Given the description of an element on the screen output the (x, y) to click on. 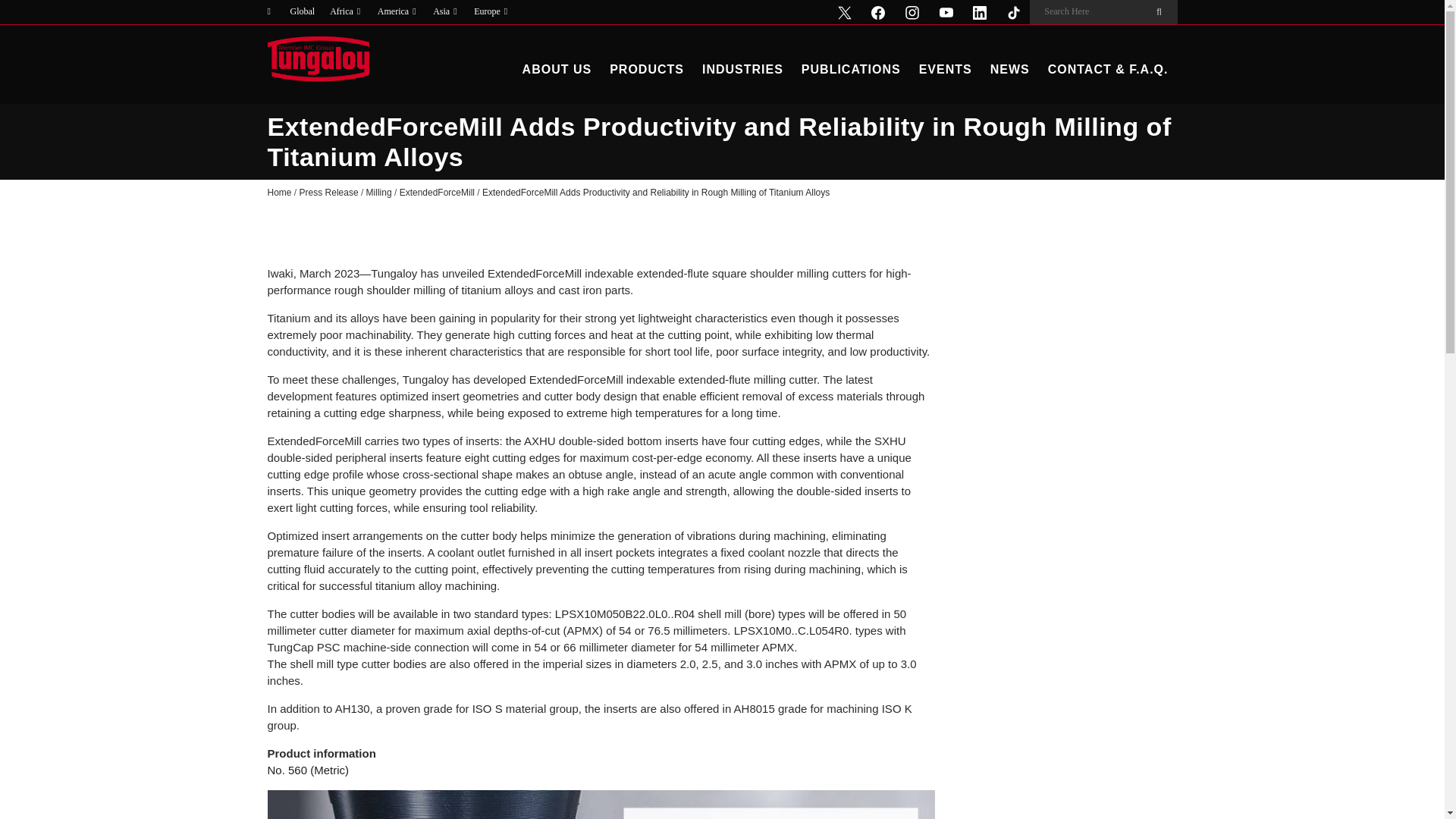
Instagram (911, 12)
America (397, 12)
TikTok (1013, 12)
Europe (490, 12)
LinkedIn (979, 12)
X (844, 12)
YouTube (945, 12)
Asia (445, 12)
Facebook (878, 12)
Africa (345, 12)
